Given the description of an element on the screen output the (x, y) to click on. 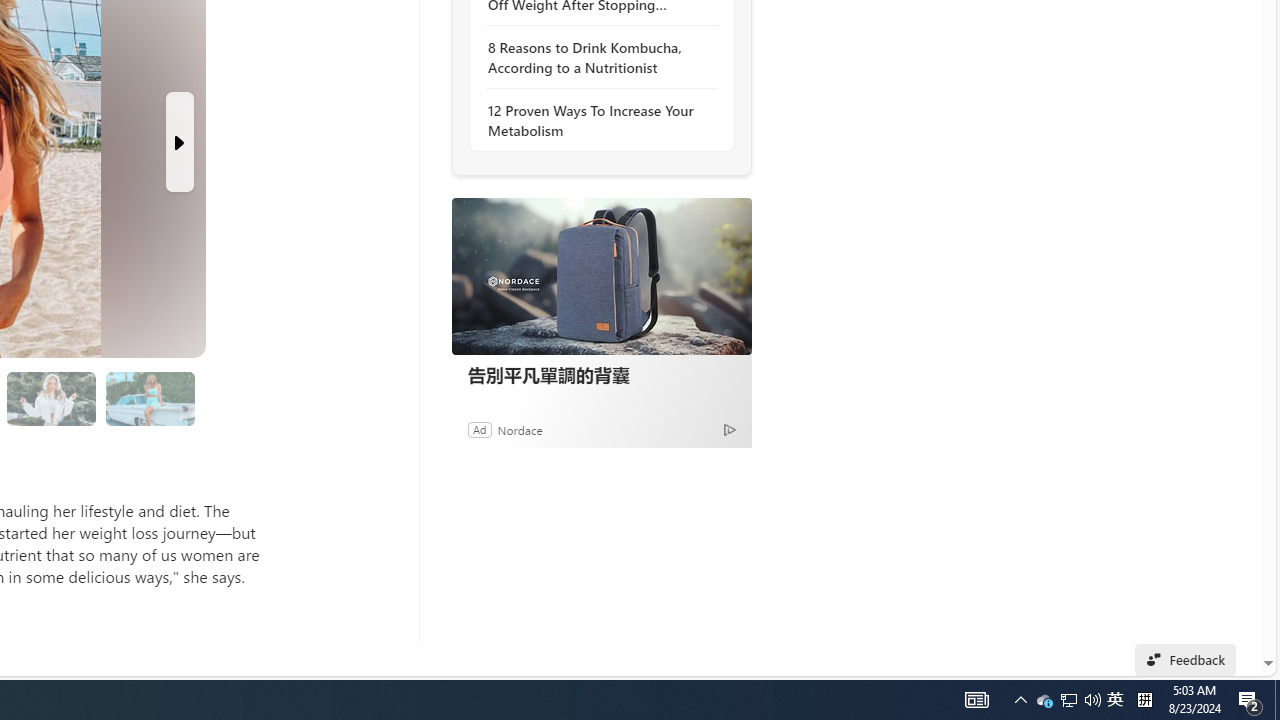
12 Proven Ways To Increase Your Metabolism (596, 120)
Next Slide (179, 142)
5 Why? Body Weight Fluctuates Daily (51, 399)
8 I Stopped Comparing Myself to Others (150, 398)
8 I Stopped Comparing Myself to Others (149, 399)
8 Reasons to Drink Kombucha, According to a Nutritionist (596, 57)
Class: progress (149, 394)
